Given the description of an element on the screen output the (x, y) to click on. 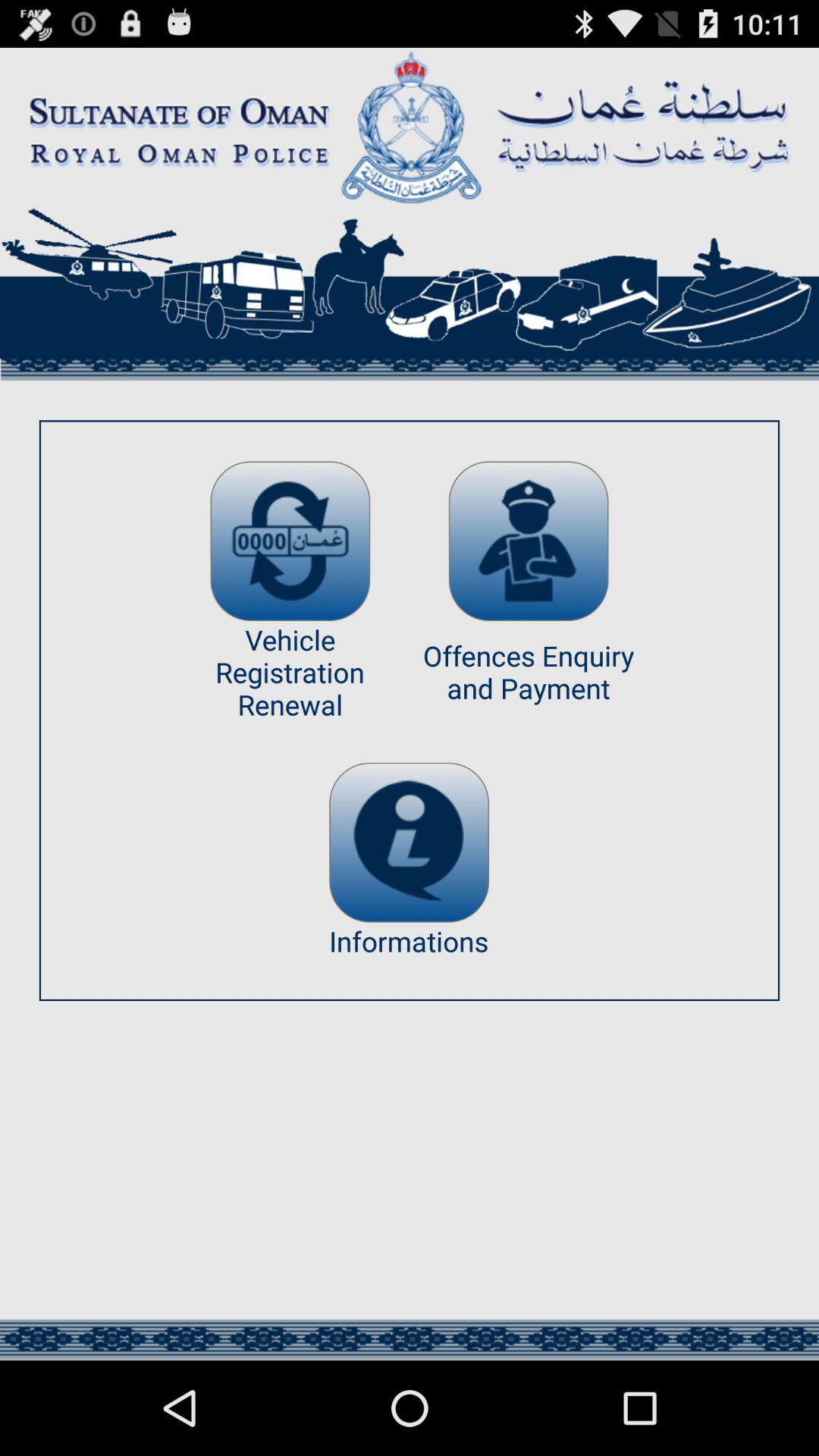
information (409, 842)
